Given the description of an element on the screen output the (x, y) to click on. 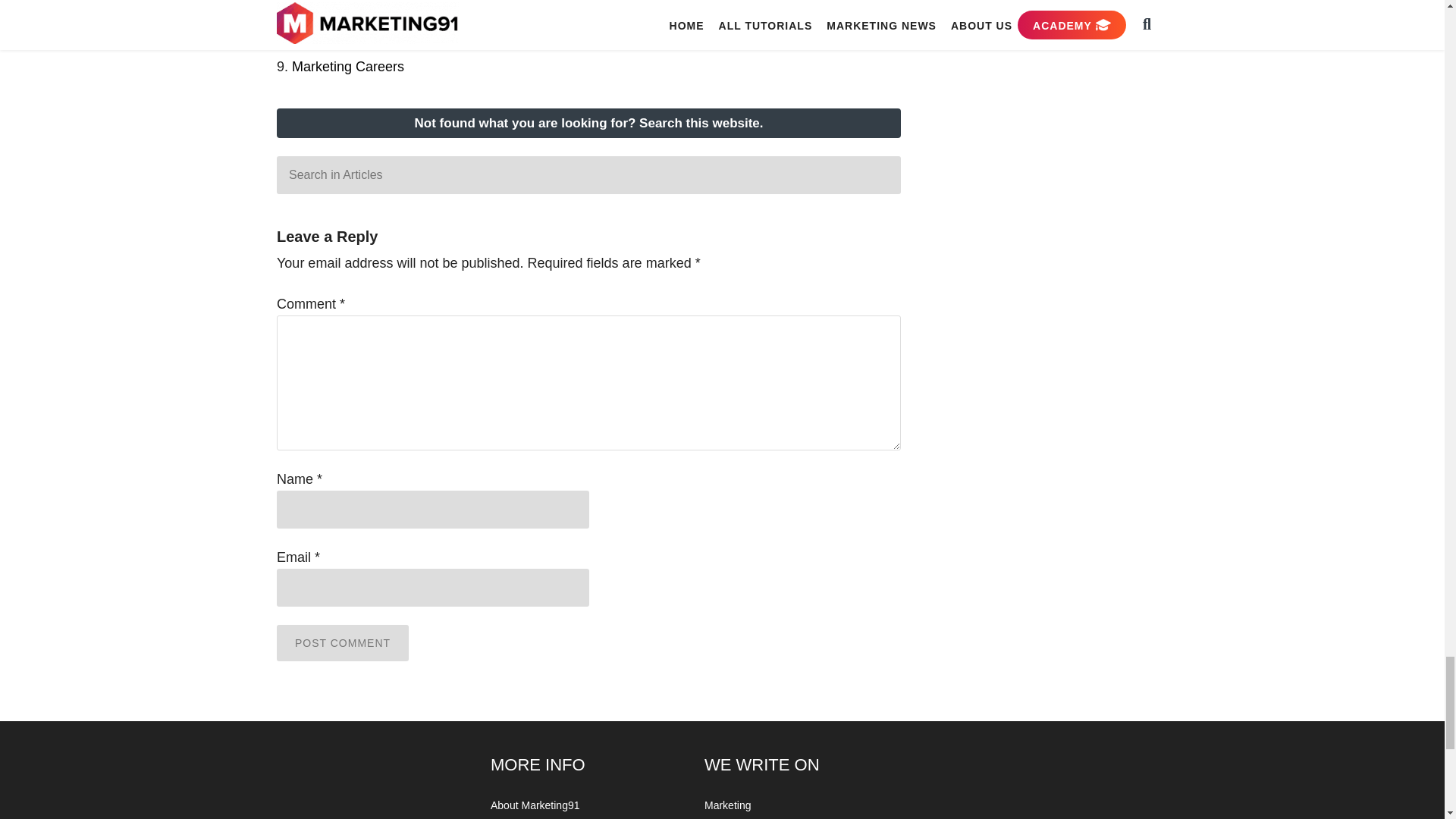
Post Comment (342, 642)
